Given the description of an element on the screen output the (x, y) to click on. 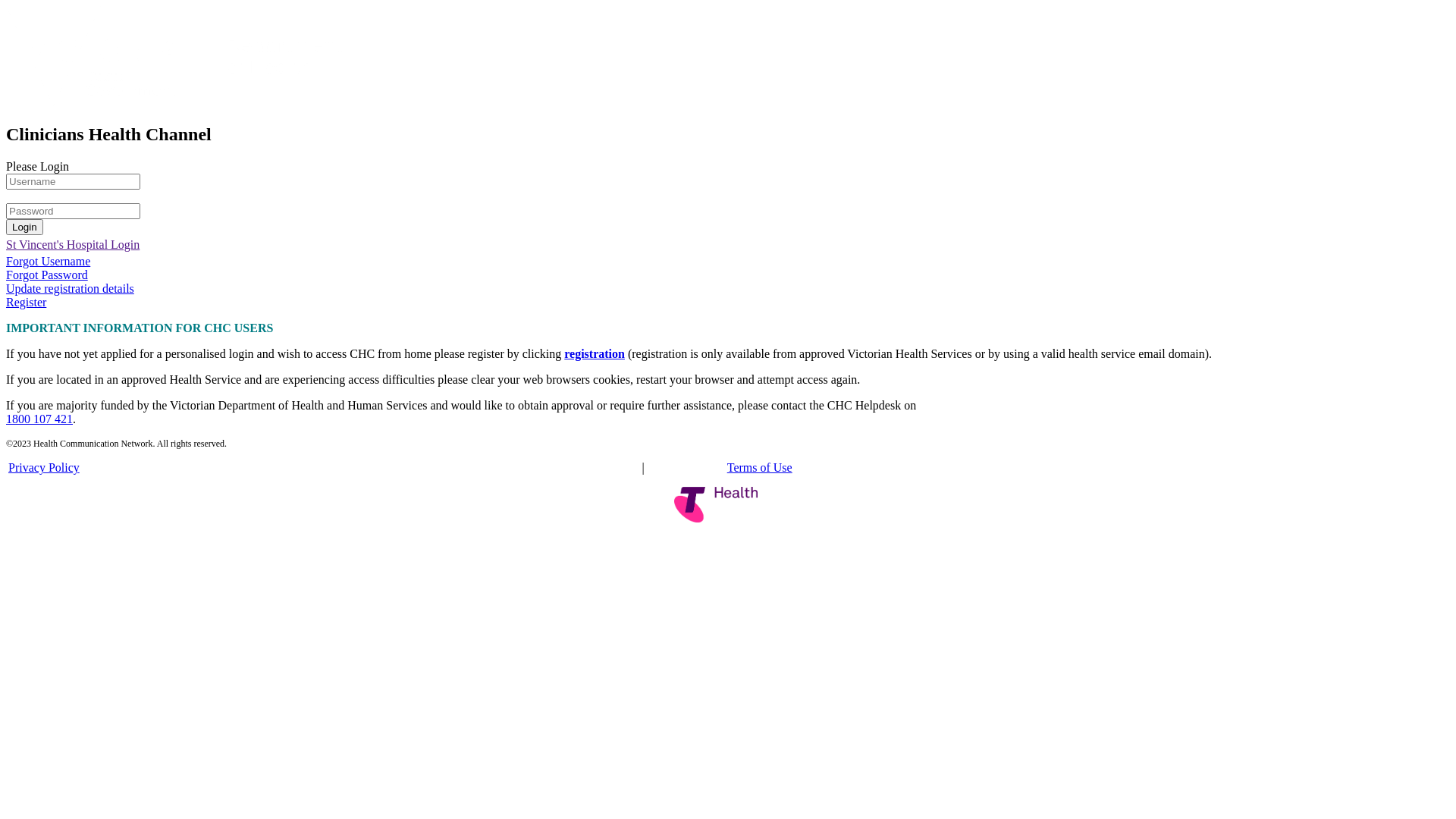
Privacy Policy Element type: text (43, 467)
Login Element type: text (24, 227)
1800 107 421 Element type: text (39, 418)
registration Element type: text (594, 353)
Register Element type: text (26, 301)
St Vincent's Hospital Login Element type: text (72, 244)
Terms of Use Element type: text (759, 467)
Forgot Password Element type: text (46, 274)
Forgot Username Element type: text (48, 260)
Update registration details Element type: text (70, 288)
